Given the description of an element on the screen output the (x, y) to click on. 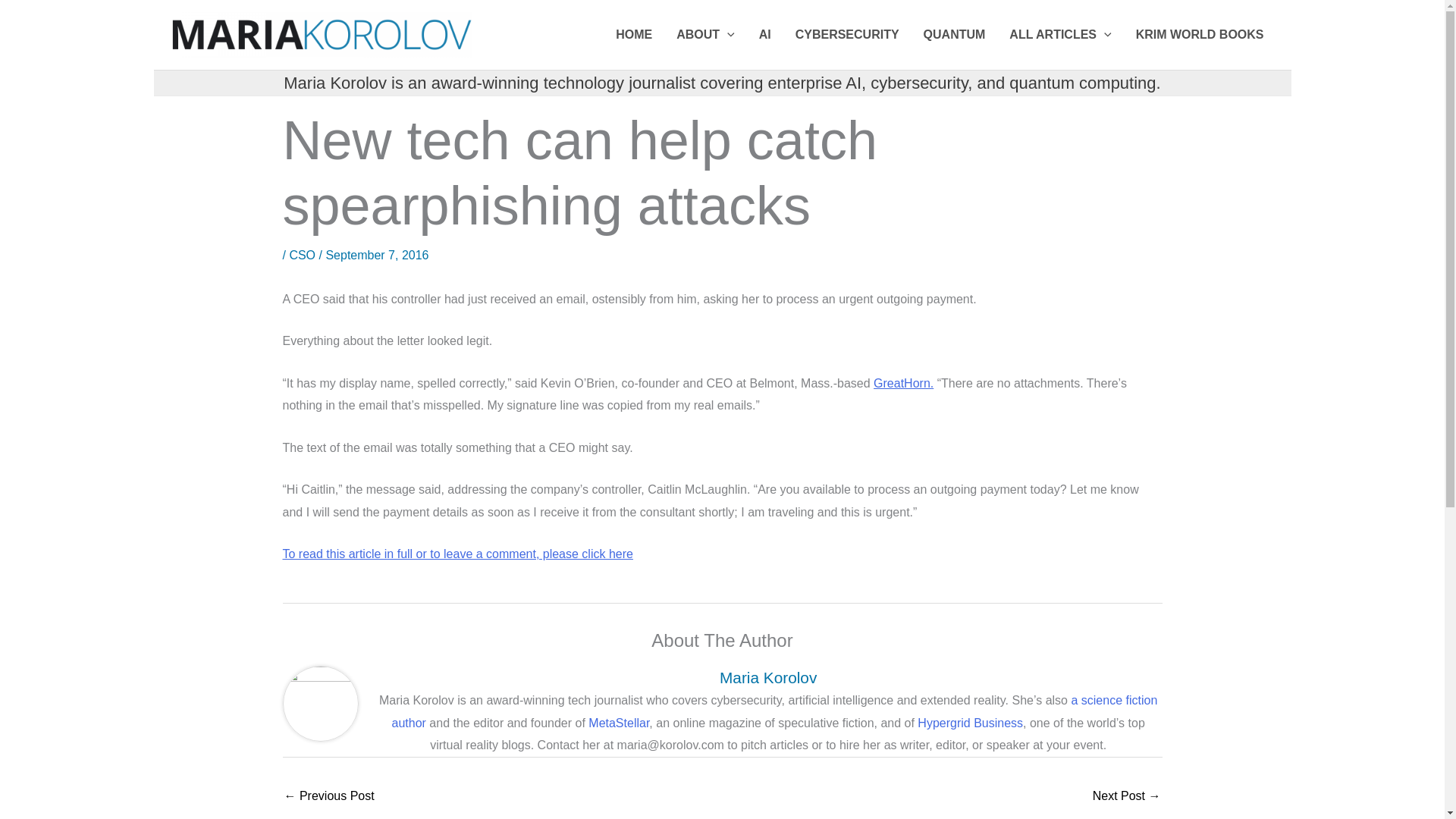
ALL ARTICLES (1059, 34)
Summer's top virtual communities (328, 796)
CYBERSECURITY (847, 34)
ABOUT (704, 34)
KRIM WORLD BOOKS (1200, 34)
New tech can help catch spearphishing attacks (1126, 796)
QUANTUM (954, 34)
HOME (633, 34)
